Given the description of an element on the screen output the (x, y) to click on. 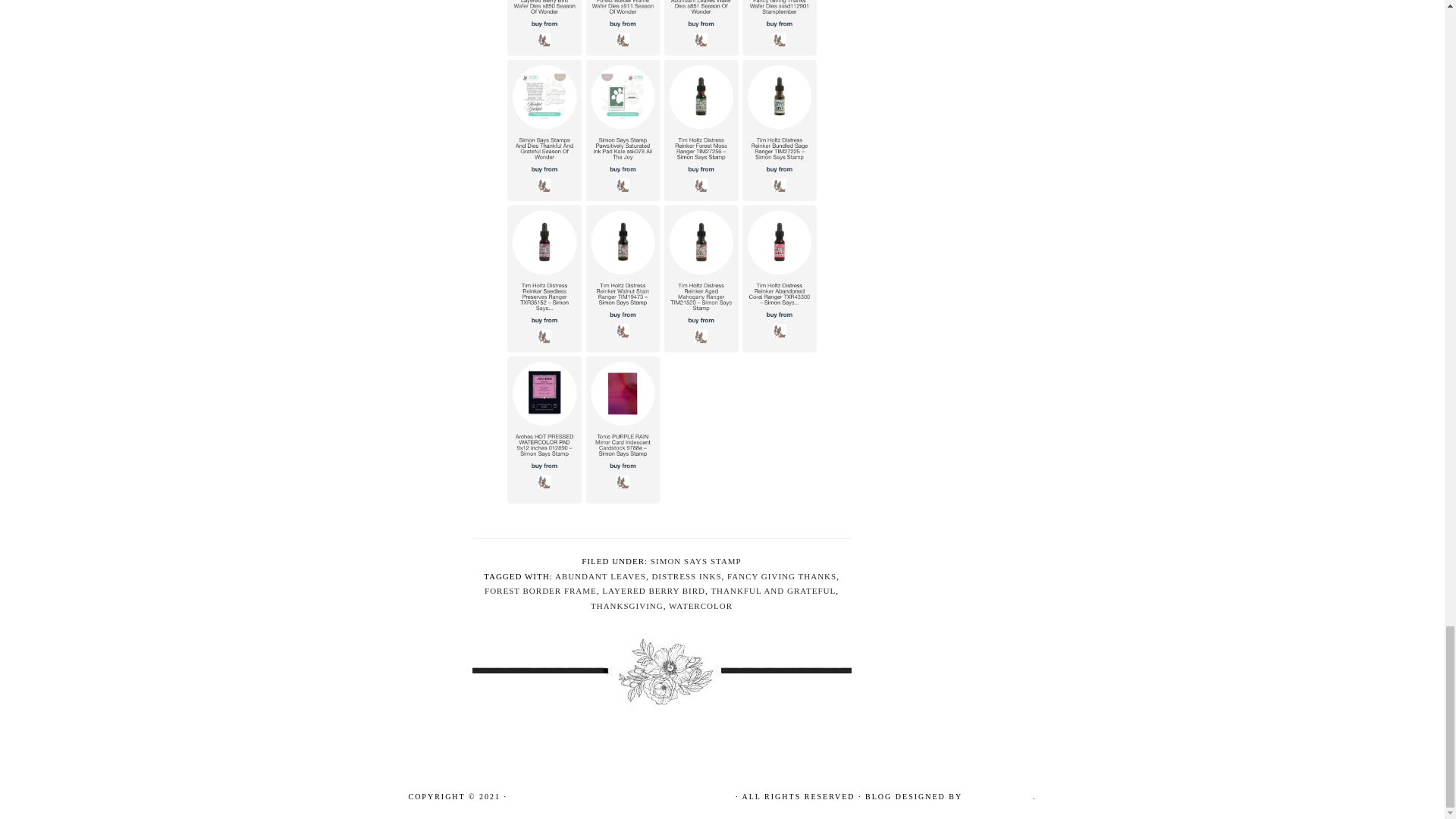
FANCY GIVING THANKS (780, 575)
WATERCOLOR (700, 605)
THANKFUL AND GRATEFUL (772, 590)
SIMON SAYS STAMP (695, 560)
FOREST BORDER FRAME (540, 590)
DISTRESS INKS (685, 575)
LAYERED BERRY BIRD (653, 590)
THANKSGIVING (627, 605)
ABUNDANT LEAVES (600, 575)
